Given the description of an element on the screen output the (x, y) to click on. 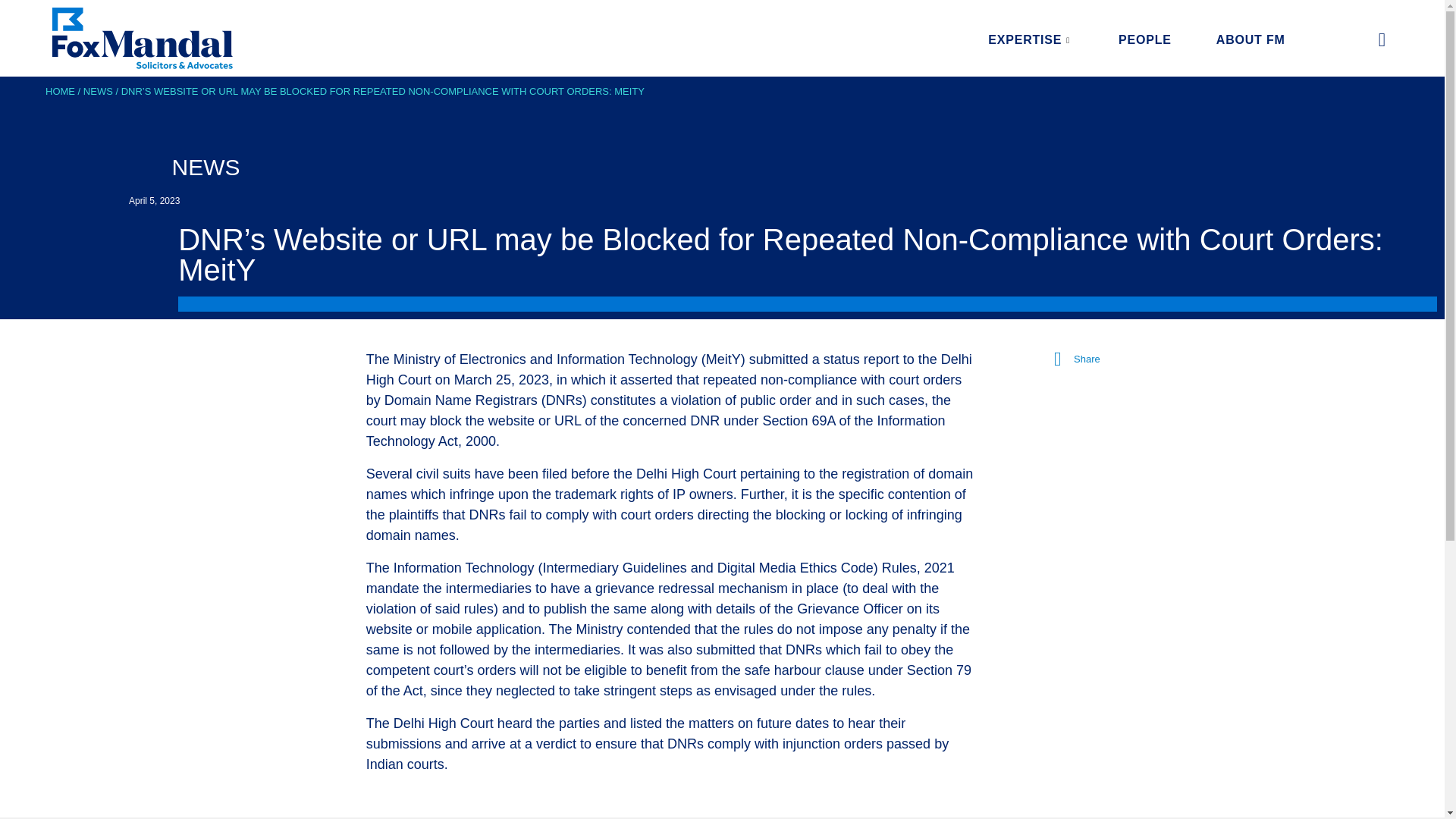
EXPERTISE (1042, 38)
